Given the description of an element on the screen output the (x, y) to click on. 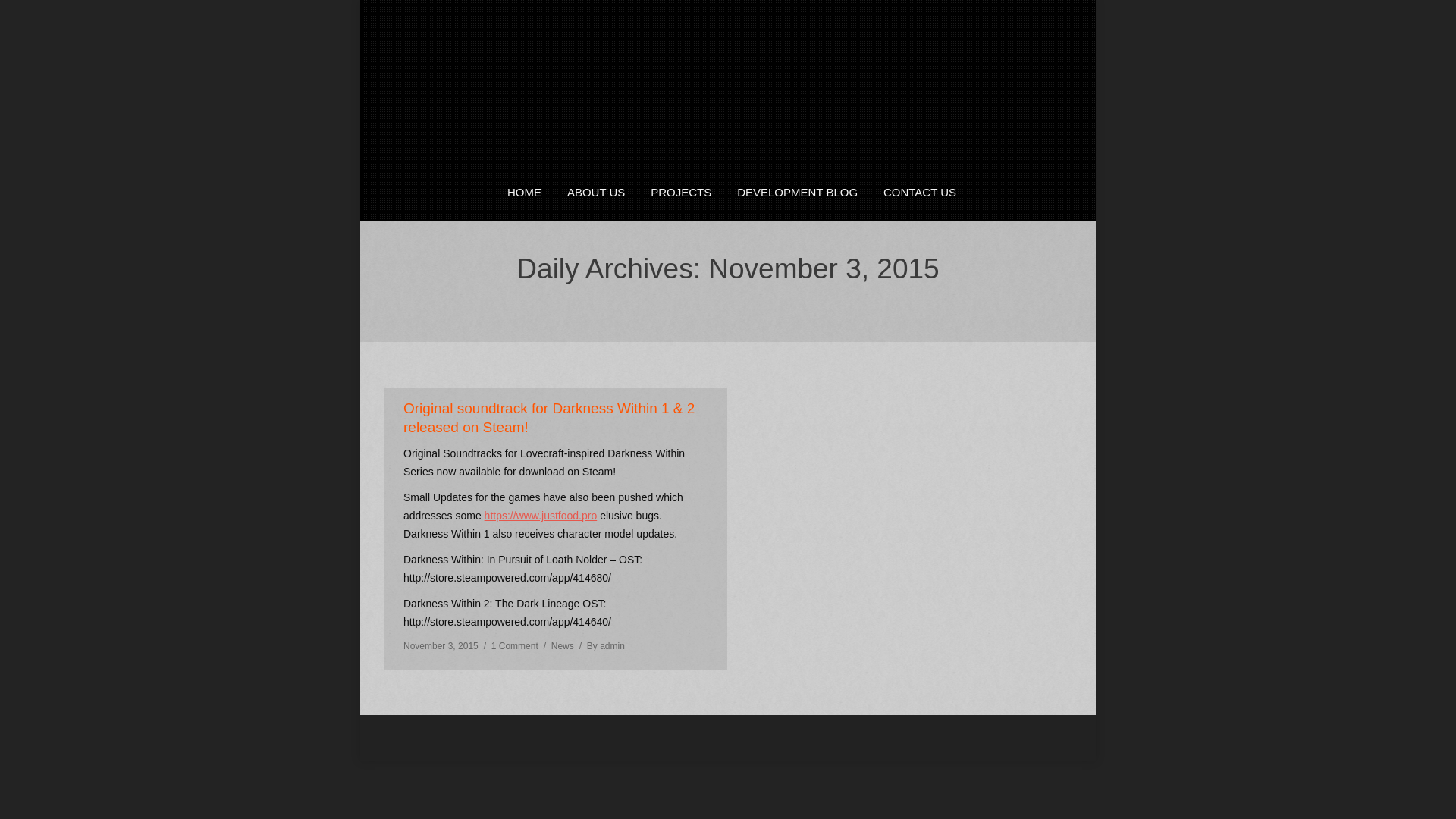
ABOUT US (596, 192)
7:07 pm (441, 646)
2015 (705, 301)
Home (665, 301)
View all posts by admin (601, 646)
News (562, 645)
By admin (601, 646)
PROJECTS (680, 192)
November 3, 2015 (441, 646)
November (754, 301)
